Given the description of an element on the screen output the (x, y) to click on. 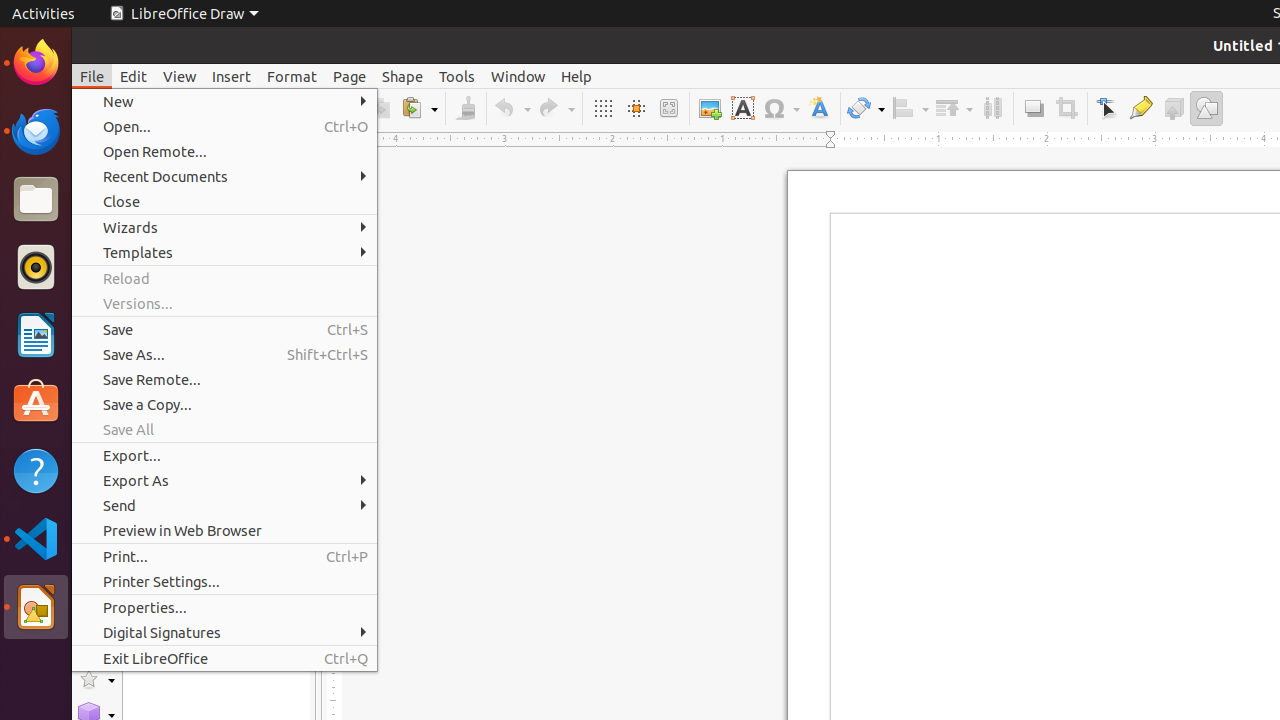
Printer Settings... Element type: menu-item (224, 581)
Draw Functions Element type: toggle-button (1206, 108)
Preview in Web Browser Element type: menu-item (224, 530)
Paste Element type: push-button (419, 108)
Text Box Element type: push-button (742, 108)
